Given the description of an element on the screen output the (x, y) to click on. 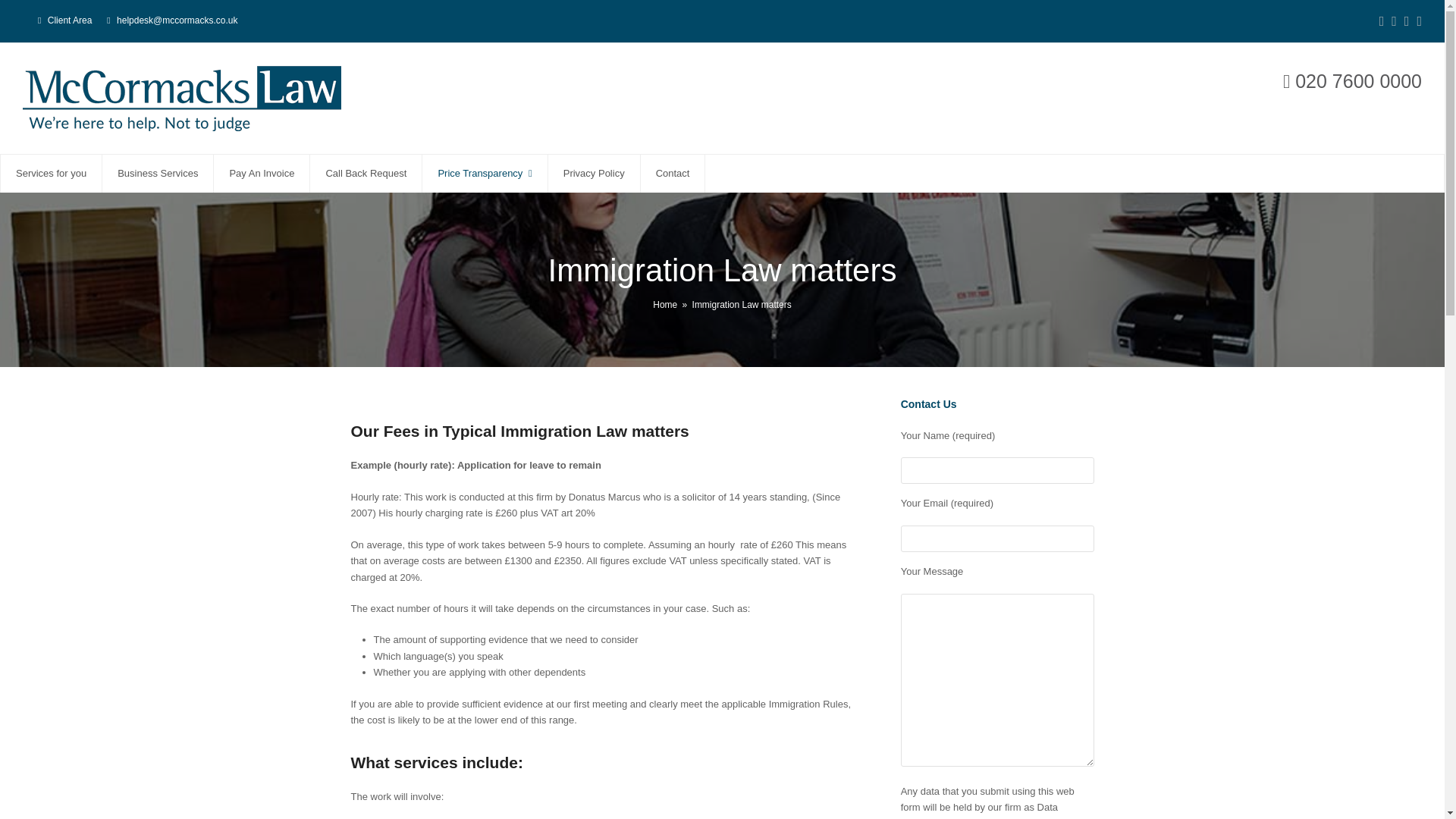
Call Back Request (366, 173)
Home (664, 304)
Privacy Policy (594, 173)
Business Services (156, 173)
Client Area (70, 20)
Pay An Invoice (261, 173)
Services for you (51, 173)
Price Transparency (484, 173)
Contact (672, 173)
